Given the description of an element on the screen output the (x, y) to click on. 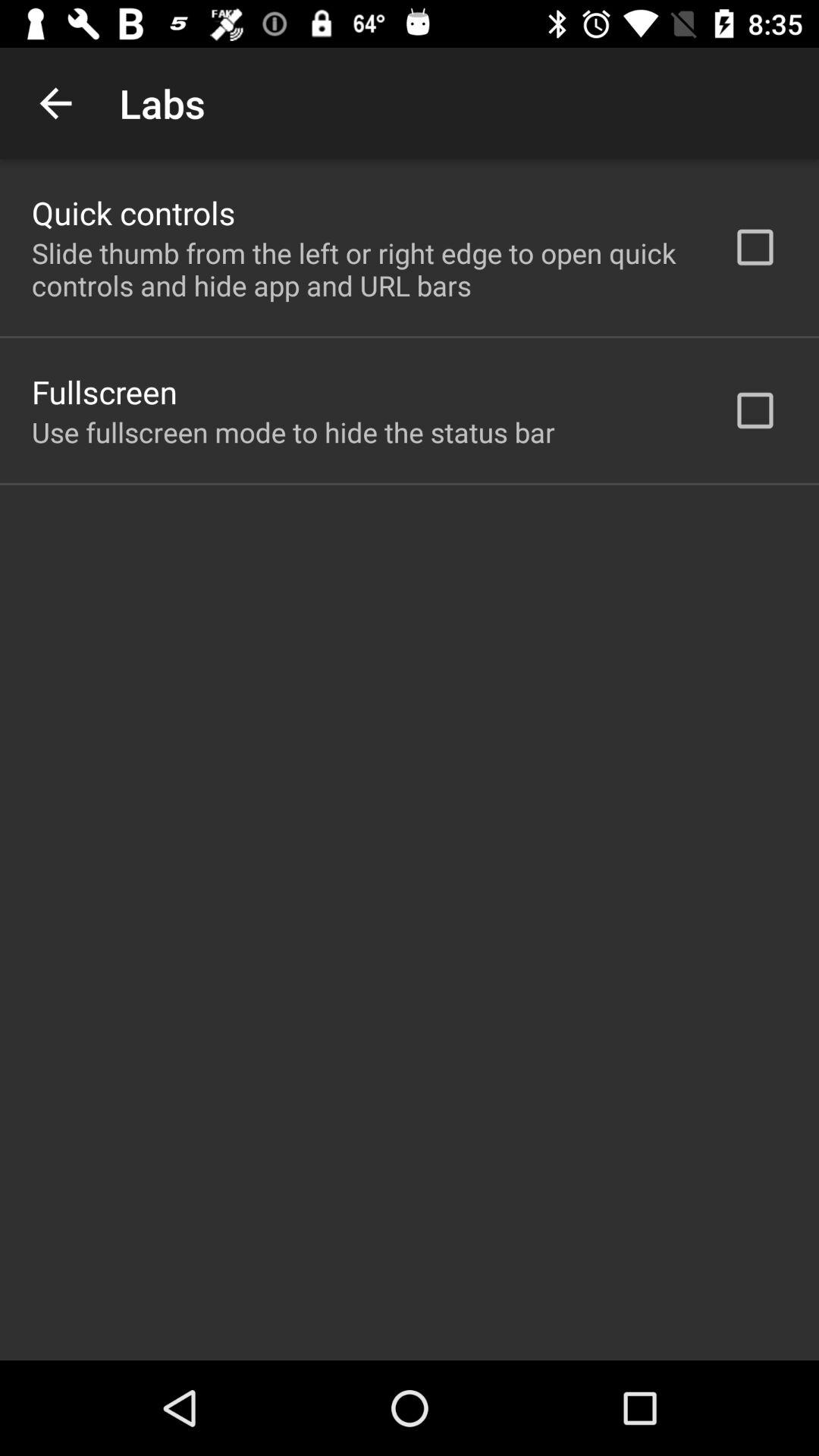
turn on the app to the left of the labs app (55, 103)
